Given the description of an element on the screen output the (x, y) to click on. 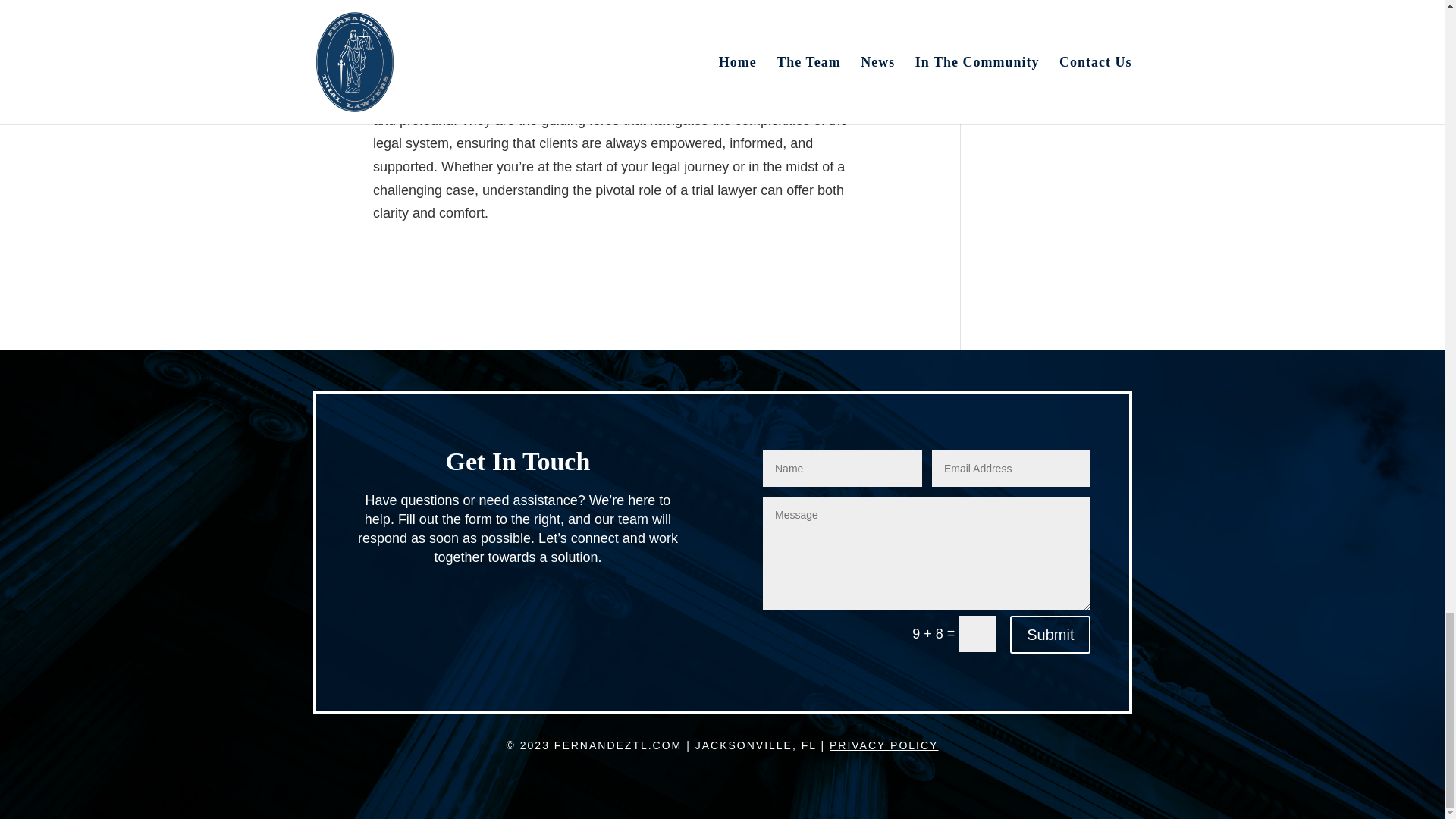
Submit (1050, 634)
PRIVACY POLICY (883, 745)
